Given the description of an element on the screen output the (x, y) to click on. 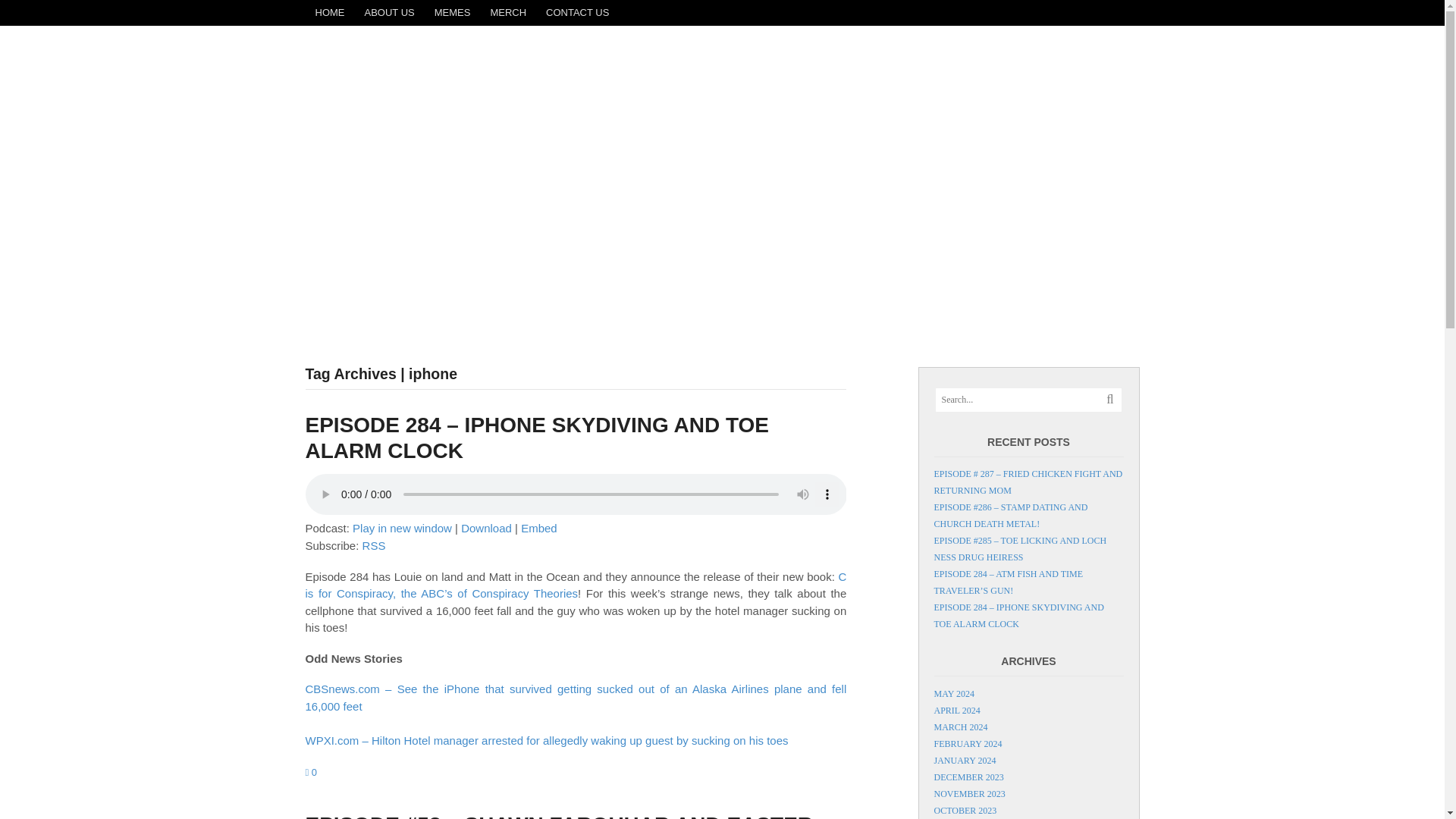
Embed (539, 527)
ABOUT US (390, 12)
MERCH (507, 12)
Play in new window (401, 527)
RSS (373, 545)
Play in new window (401, 527)
Download (486, 527)
MEMES (452, 12)
Search... (1020, 399)
0 (310, 772)
Download (486, 527)
CONTACT US (576, 12)
HOME (328, 12)
Embed (539, 527)
Subscribe via RSS (373, 545)
